Given the description of an element on the screen output the (x, y) to click on. 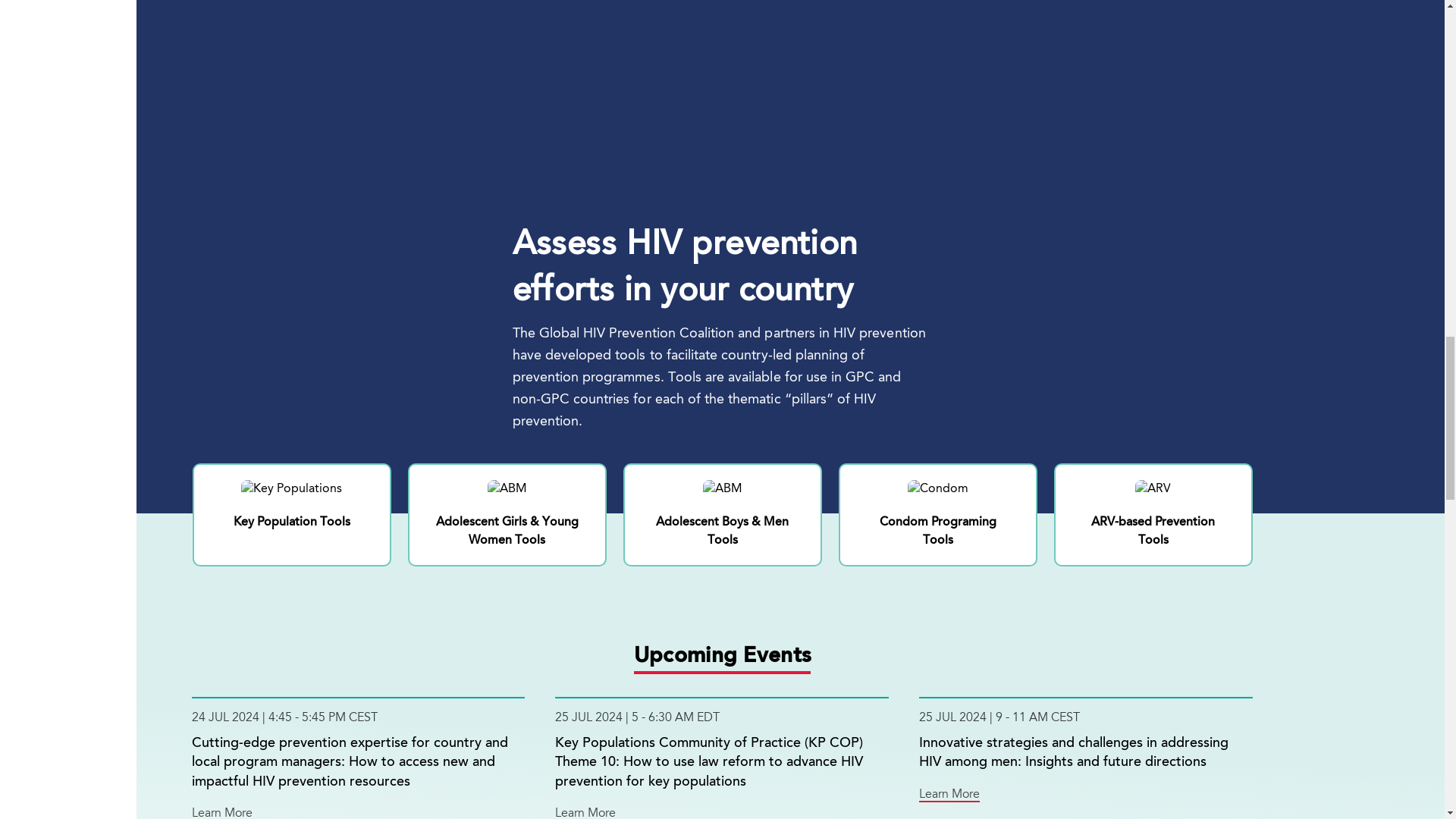
Key Population Tools (291, 506)
